Given the description of an element on the screen output the (x, y) to click on. 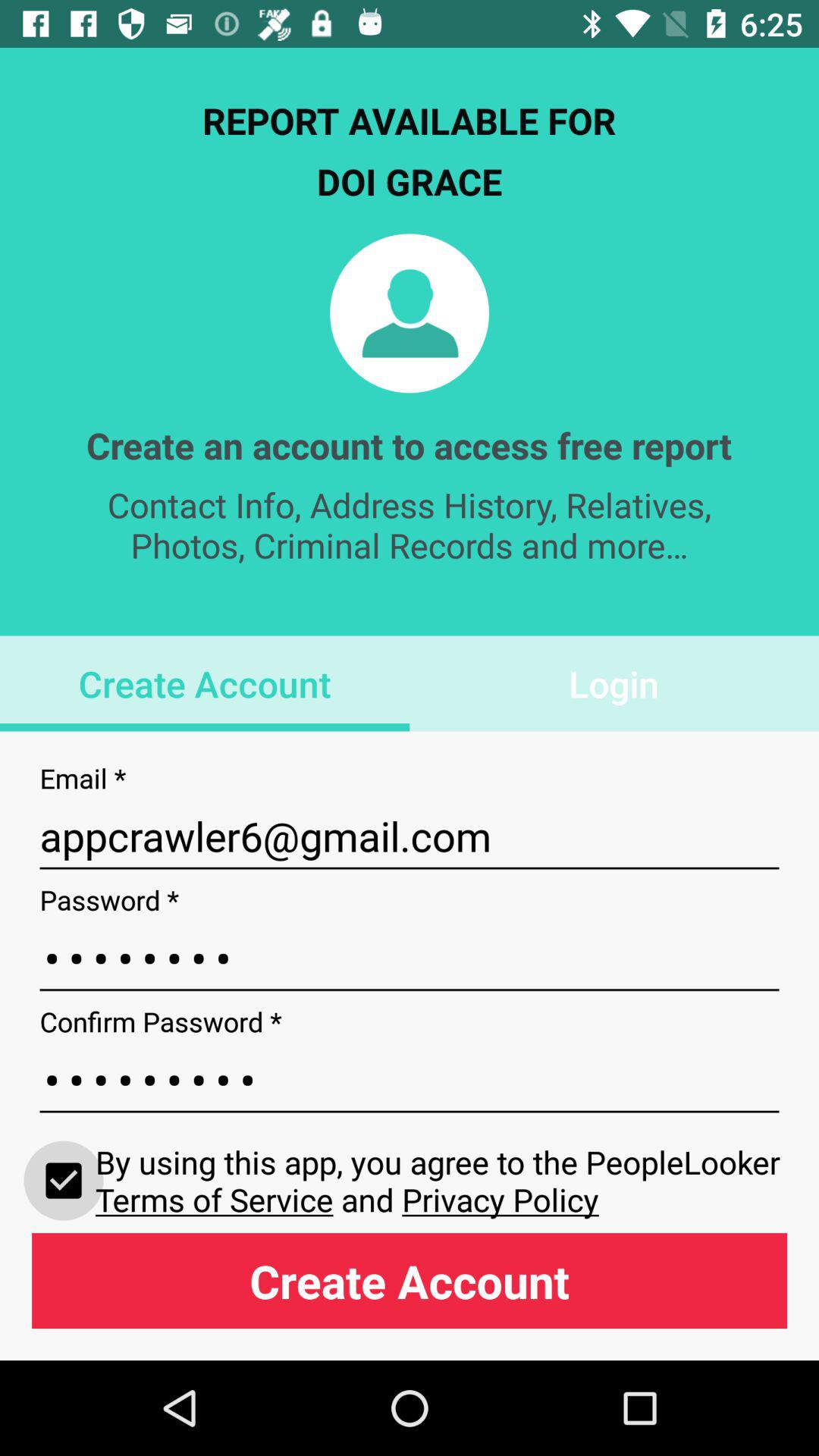
press the item below the appcrawler6@gmail.com item (409, 958)
